Given the description of an element on the screen output the (x, y) to click on. 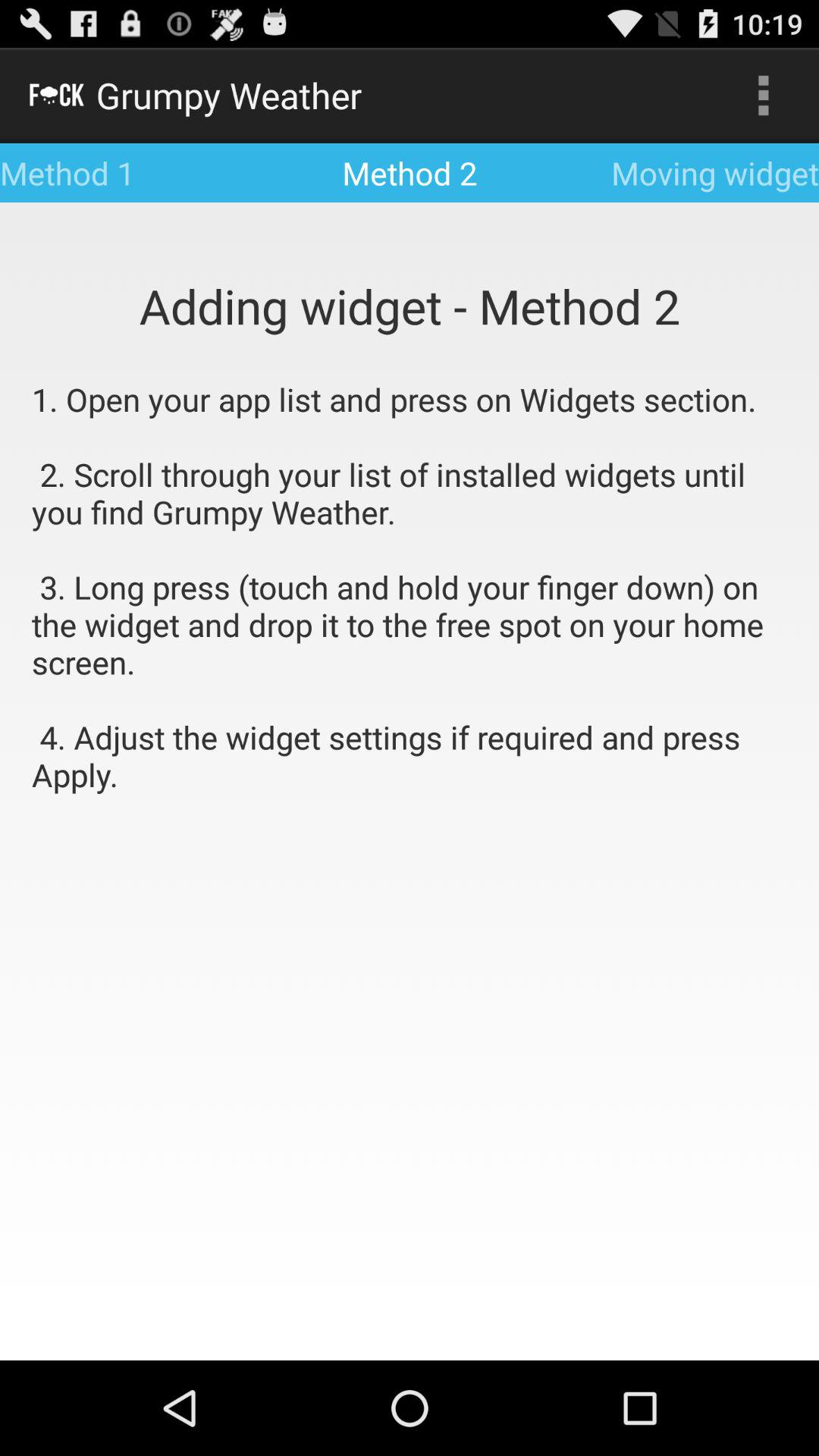
turn off icon next to the method 2 (763, 95)
